Given the description of an element on the screen output the (x, y) to click on. 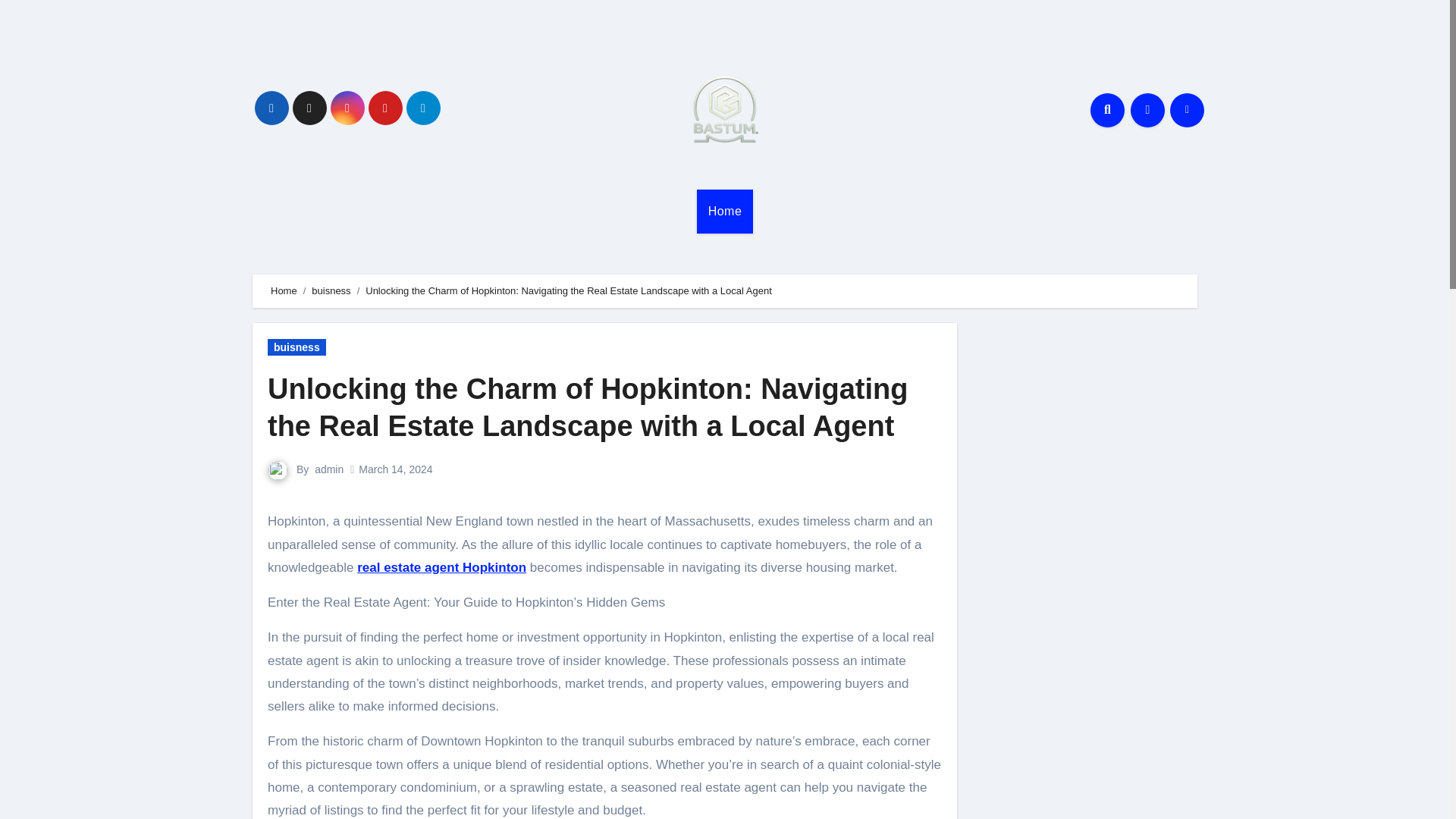
buisness (330, 290)
Home (725, 211)
Home (725, 211)
real estate agent Hopkinton (440, 567)
March 14, 2024 (395, 469)
admin (328, 469)
buisness (296, 347)
Home (283, 290)
